Given the description of an element on the screen output the (x, y) to click on. 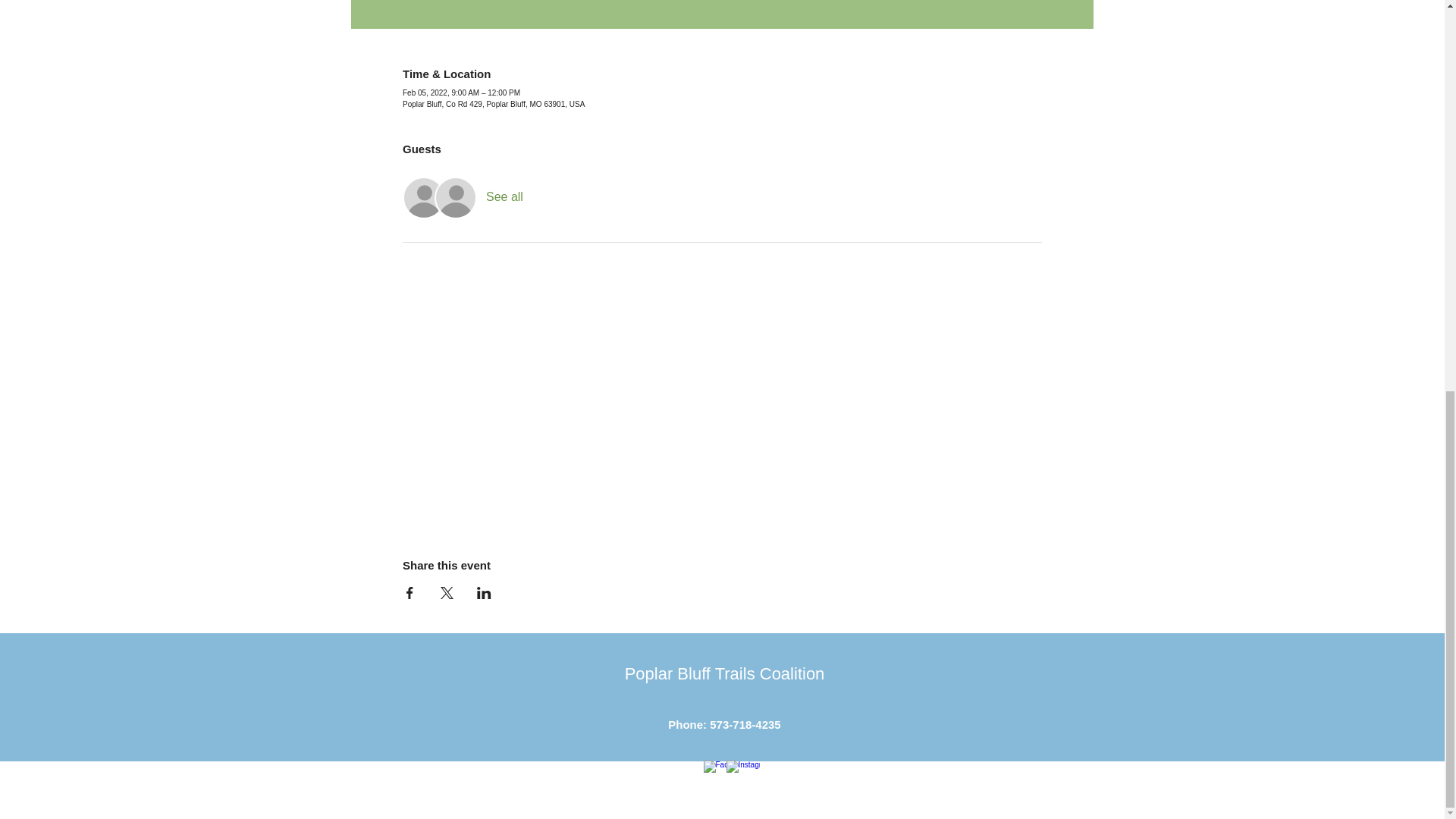
See all (504, 197)
Poplar Bluff Trails Coalition (724, 673)
